Given the description of an element on the screen output the (x, y) to click on. 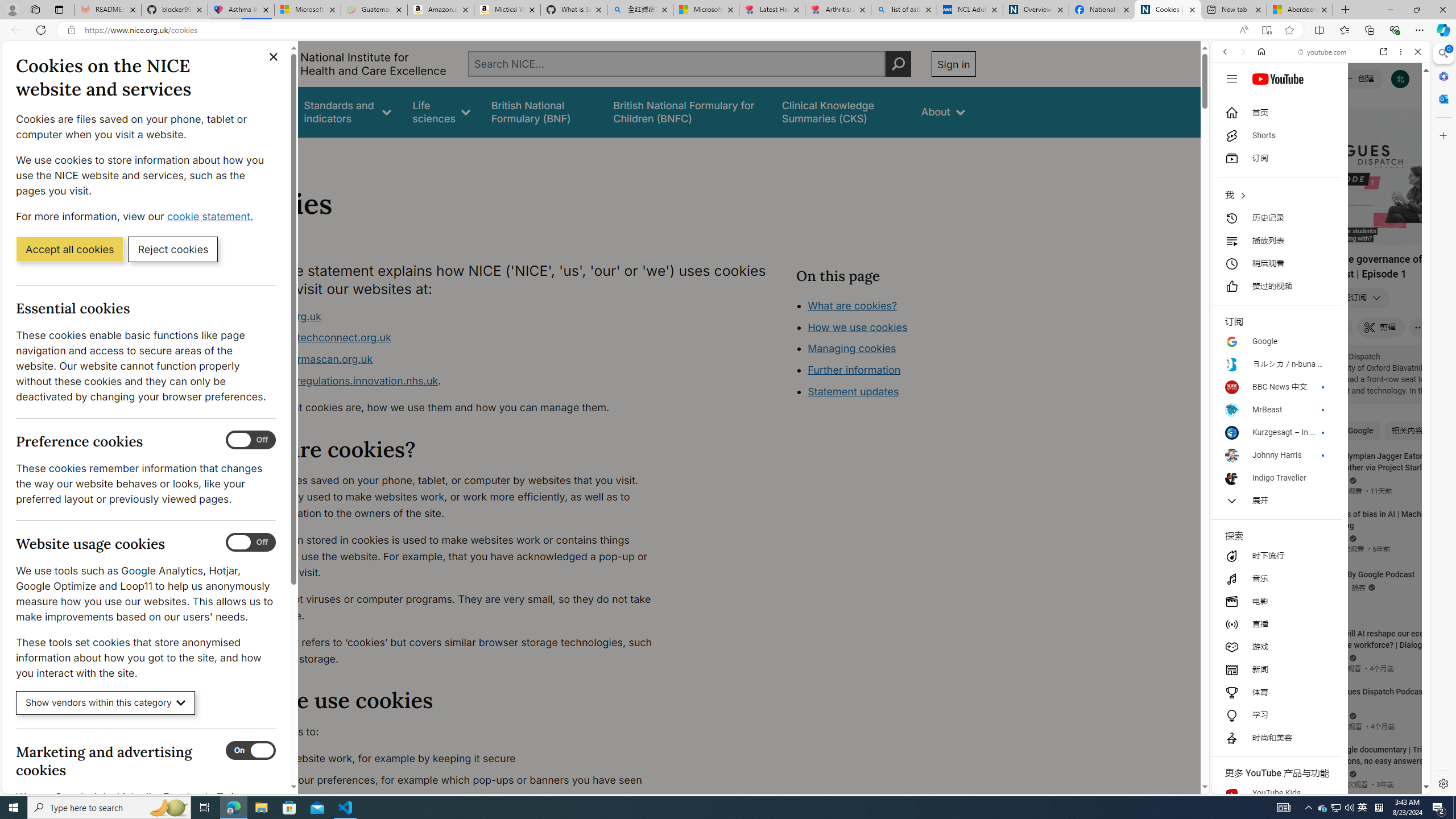
Search Filter, WEB (1230, 129)
Further information (854, 369)
#you (1315, 659)
Search Filter, Search Tools (1350, 129)
Web scope (1230, 102)
Guidance (260, 111)
YouTube Kids (1275, 793)
VIDEOS (1300, 130)
How we use cookies (857, 327)
Marketing and advertising cookies (250, 750)
